Given the description of an element on the screen output the (x, y) to click on. 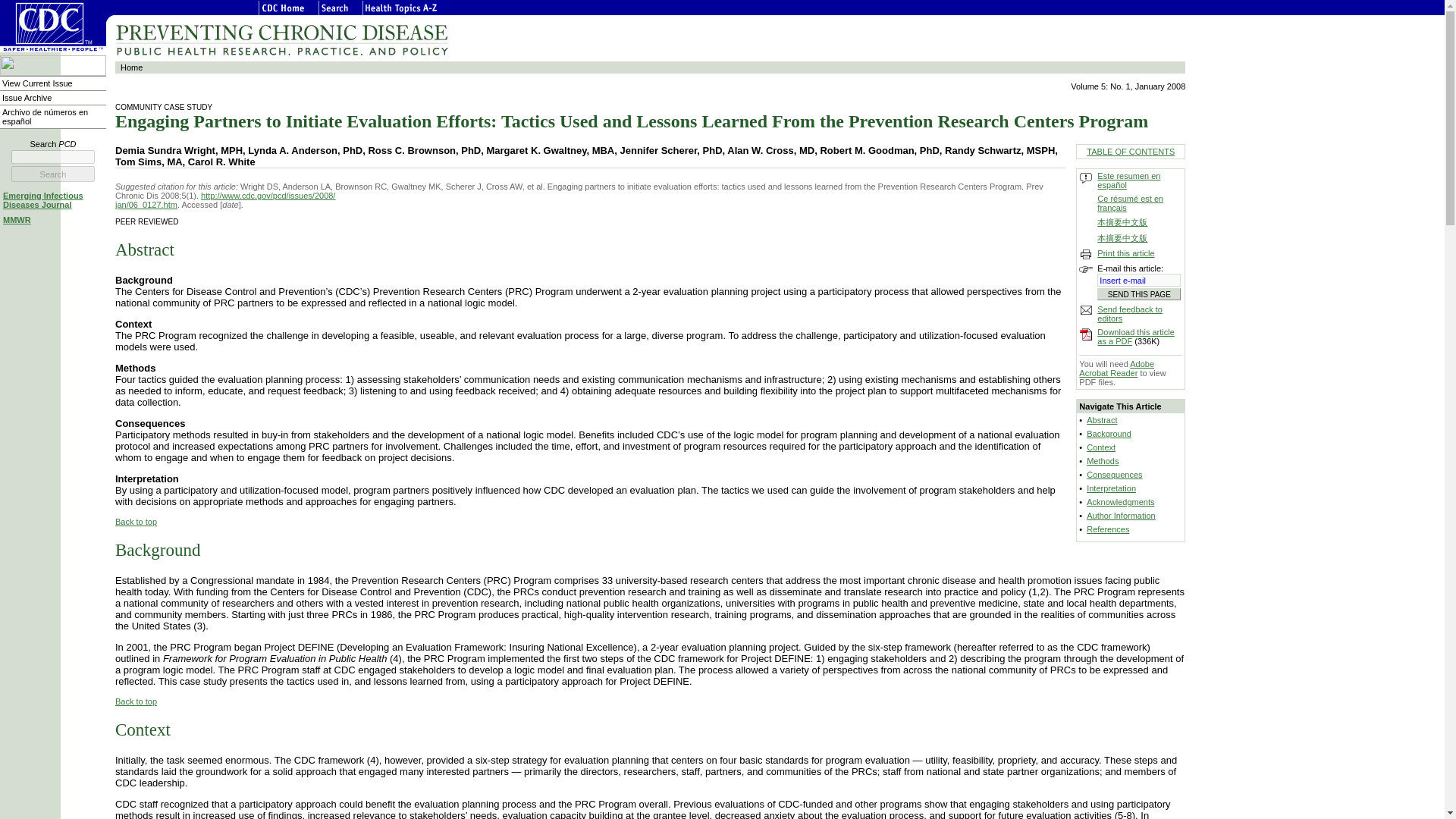
Emerging Infectious Diseases Journal (42, 199)
Search box (52, 156)
Abstract (1101, 420)
SEND THIS PAGE (1138, 294)
Insert e-mail (1138, 279)
Adobe Acrobat Reader (1116, 368)
Search (52, 173)
Print this article (1125, 252)
Search button (52, 173)
Author Information (1121, 515)
References (1107, 528)
Acknowledgments (1120, 501)
Back to top (136, 521)
Download this article as a PDF (1135, 336)
Search (52, 173)
